Given the description of an element on the screen output the (x, y) to click on. 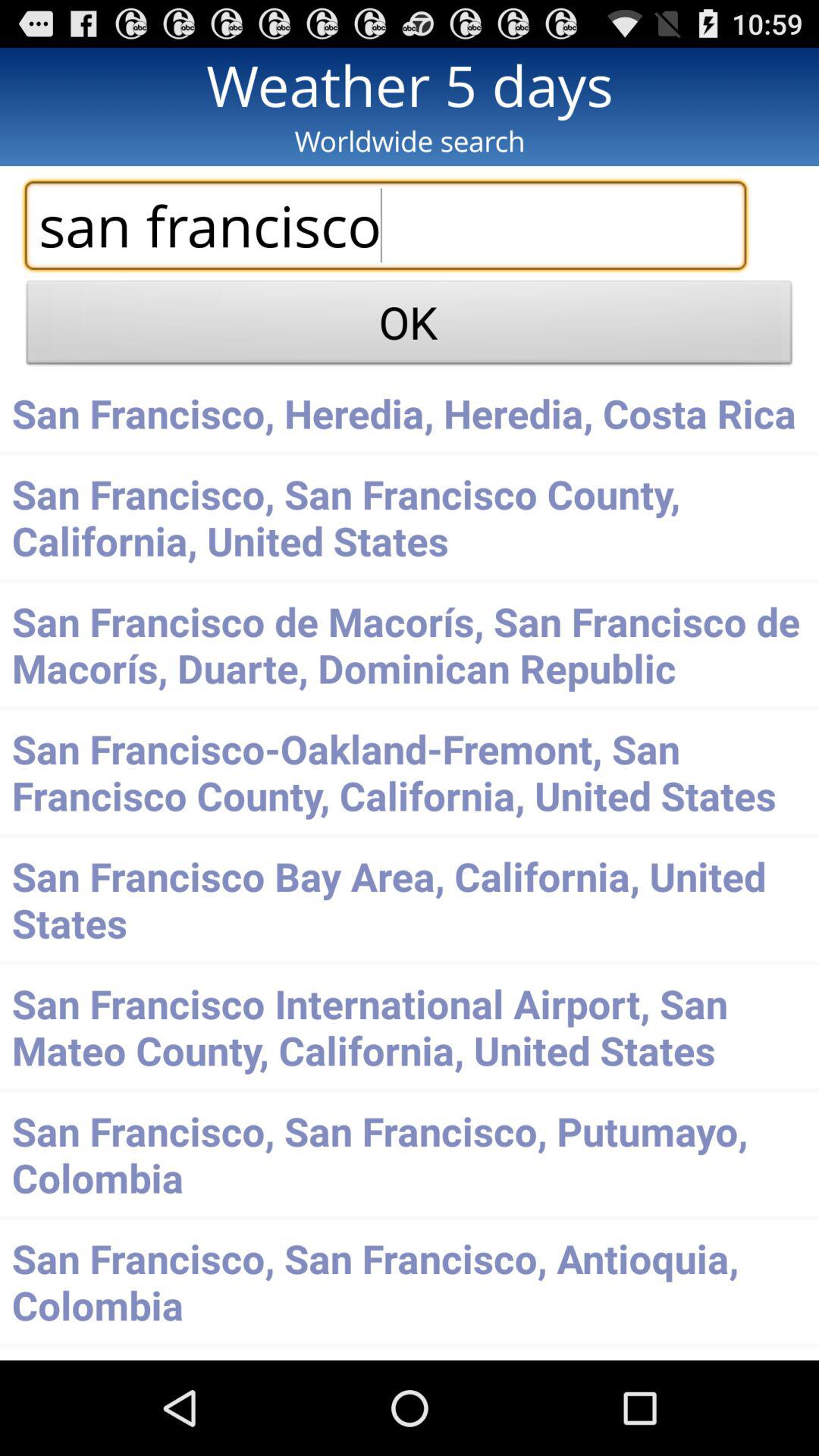
select the search box (385, 225)
click on ok (409, 326)
